Given the description of an element on the screen output the (x, y) to click on. 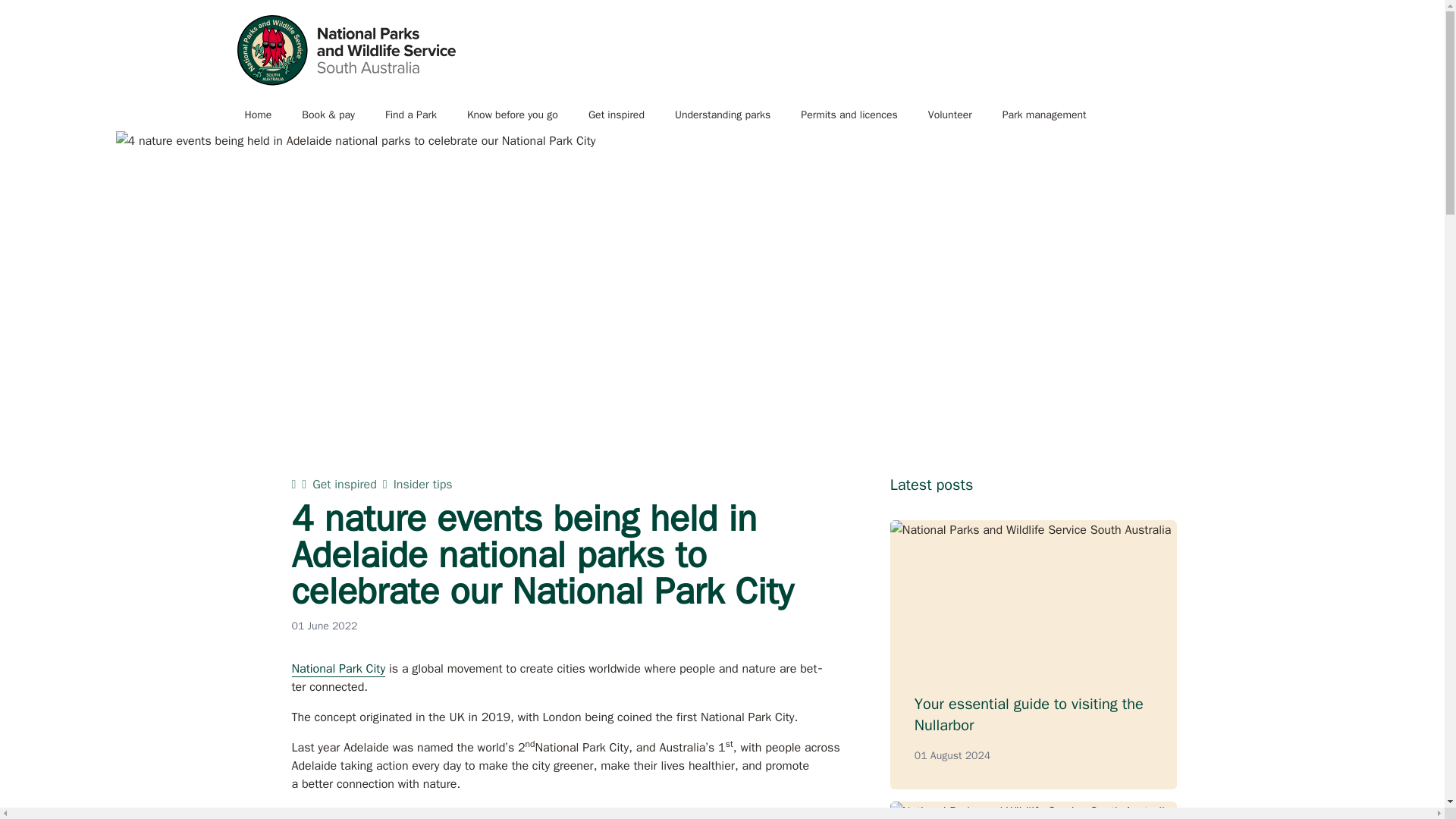
Know before you go (512, 115)
Get inspired (616, 115)
Find a Park (410, 115)
Understanding parks (722, 115)
Parks (344, 50)
Home (257, 115)
